Given the description of an element on the screen output the (x, y) to click on. 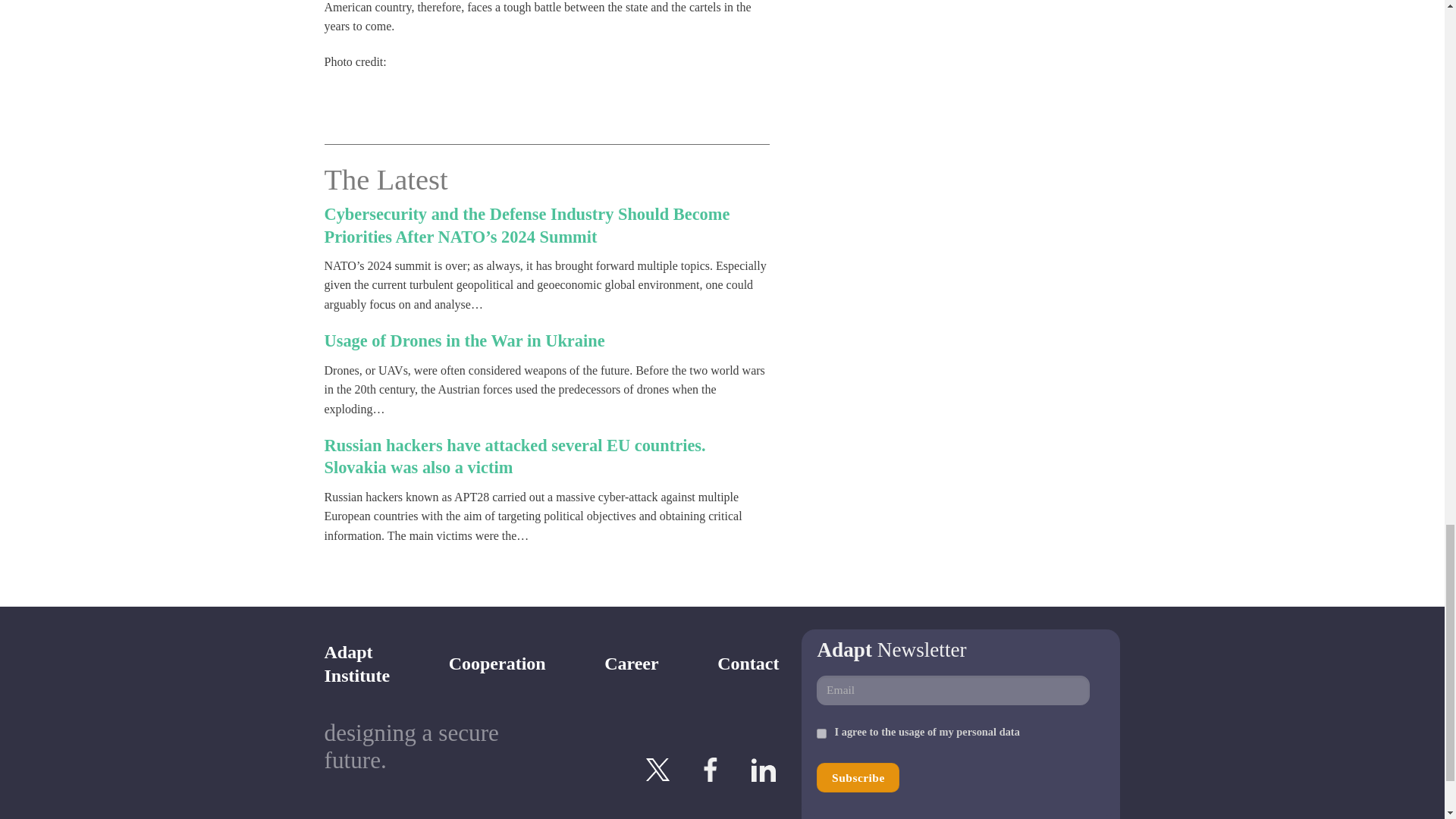
Contact (357, 663)
Cooperation (747, 663)
Subscribe (497, 663)
on (857, 777)
Subscribe (821, 733)
Career (857, 777)
Usage of Drones in the War in Ukraine (631, 663)
